Given the description of an element on the screen output the (x, y) to click on. 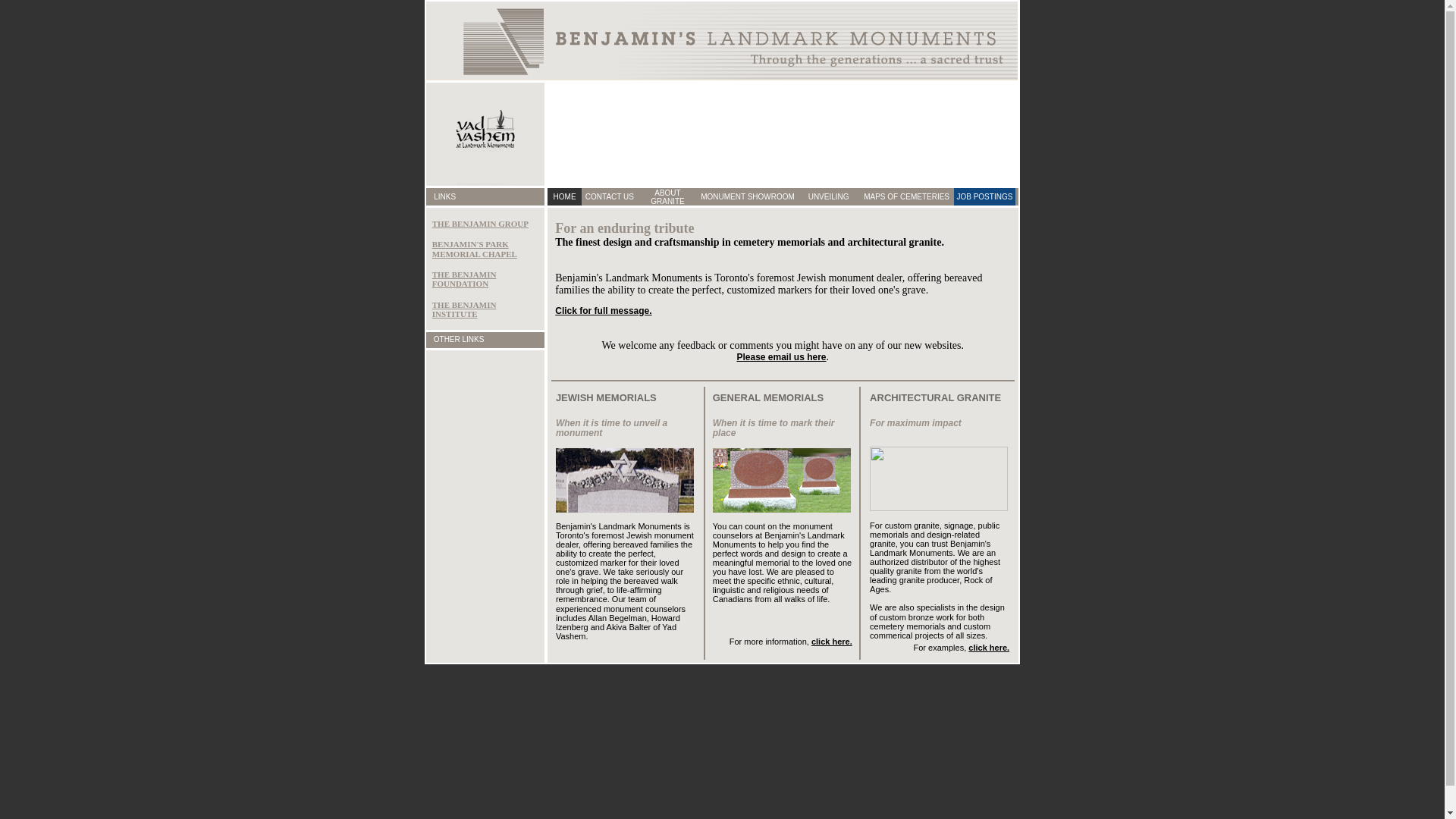
click here. Element type: text (831, 641)
MONUMENT SHOWROOM Element type: text (747, 196)
THE BENJAMIN FOUNDATION Element type: text (464, 278)
JOB POSTINGS Element type: text (984, 196)
BENJAMIN'S PARK MEMORIAL CHAPEL Element type: text (474, 248)
ABOUT GRANITE Element type: text (667, 196)
Click for full message. Element type: text (603, 310)
Please email us here Element type: text (780, 356)
UNVEILING Element type: text (828, 196)
OTHER LINKS Element type: text (458, 339)
THE BENJAMIN INSTITUTE Element type: text (464, 309)
CONTACT US Element type: text (609, 196)
HOME Element type: text (564, 196)
ARCHITECTURAL GRANITE Element type: text (935, 397)
JEWISH MEMORIALS Element type: text (605, 397)
THE BENJAMIN GROUP Element type: text (480, 223)
GENERAL MEMORIALS Element type: text (767, 397)
MAPS OF CEMETERIES Element type: text (906, 196)
click here. Element type: text (988, 647)
